Given the description of an element on the screen output the (x, y) to click on. 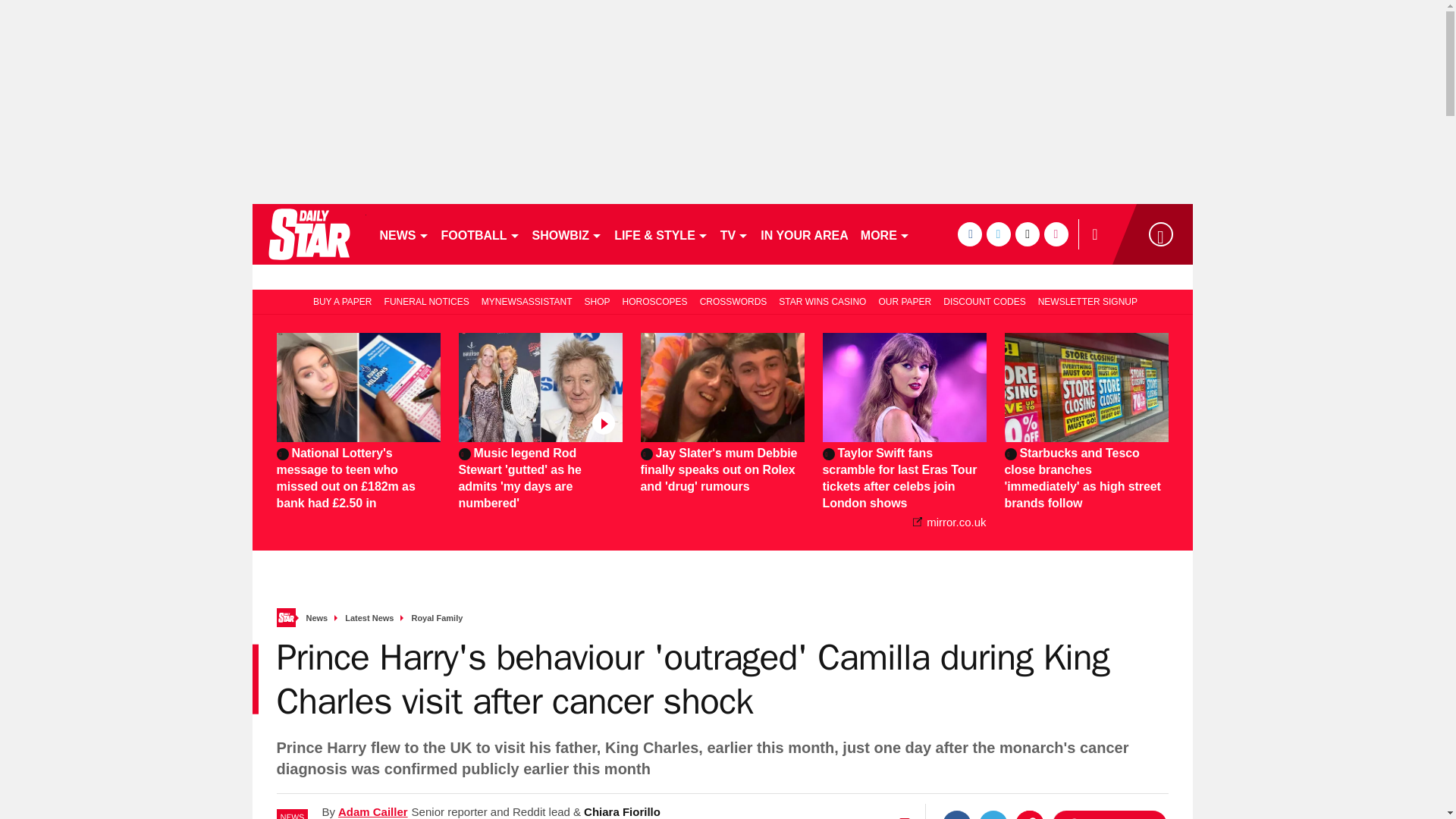
dailystar (308, 233)
Facebook (956, 814)
Twitter (992, 814)
instagram (1055, 233)
FOOTBALL (480, 233)
tiktok (1026, 233)
NEWS (402, 233)
SHOWBIZ (566, 233)
Comments (1108, 814)
twitter (997, 233)
